Given the description of an element on the screen output the (x, y) to click on. 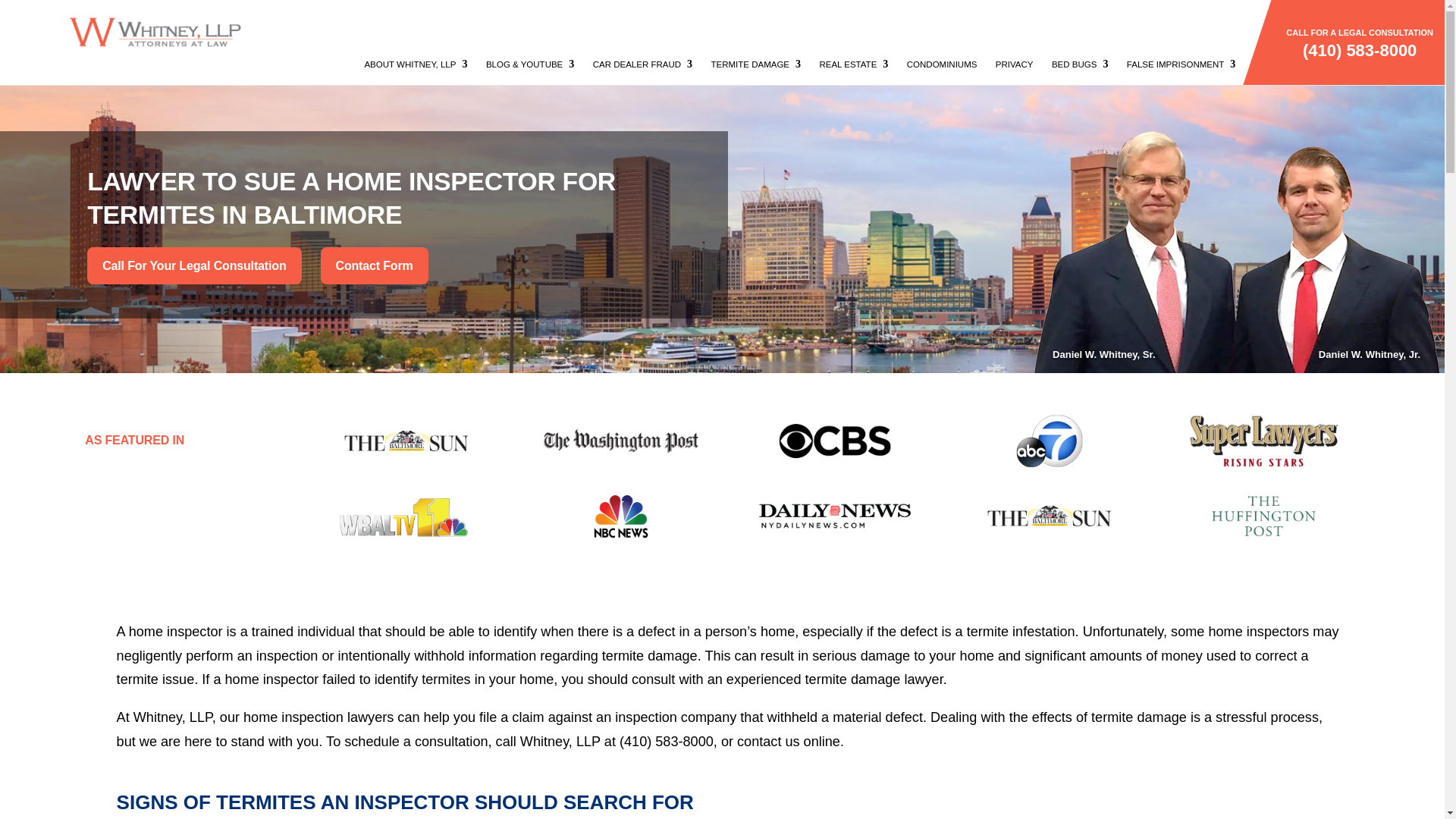
ABOUT WHITNEY, LLP (415, 68)
REAL ESTATE (853, 68)
CONDOMINIUMS (941, 68)
PRIVACY (1014, 68)
TERMITE DAMAGE (756, 68)
BED BUGS (1079, 68)
CAR DEALER FRAUD (642, 68)
